Given the description of an element on the screen output the (x, y) to click on. 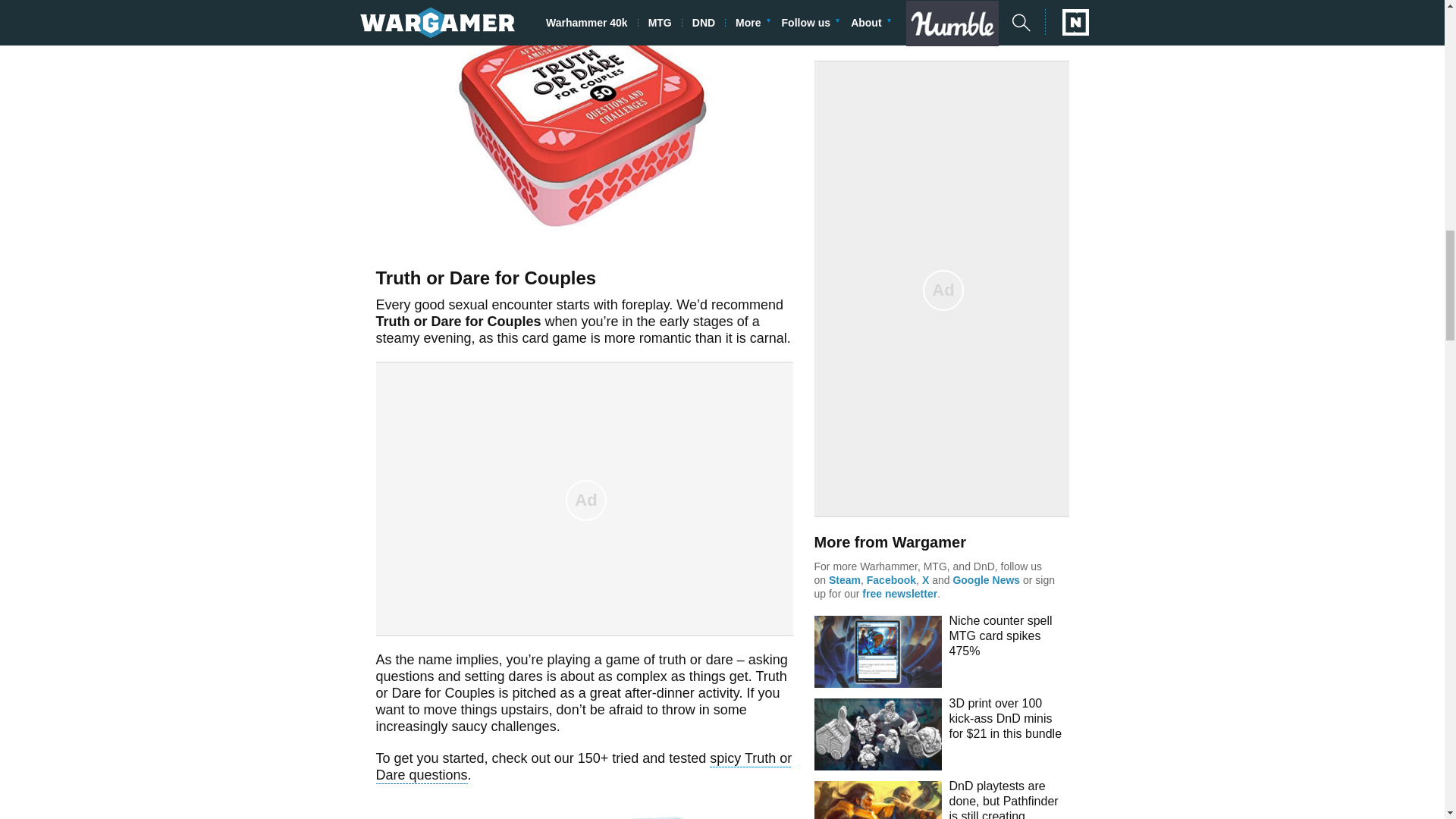
sex-card-games-talk-flirt-dare (584, 808)
sex-card-games-truth-or-dare-for-couples (584, 122)
